Given the description of an element on the screen output the (x, y) to click on. 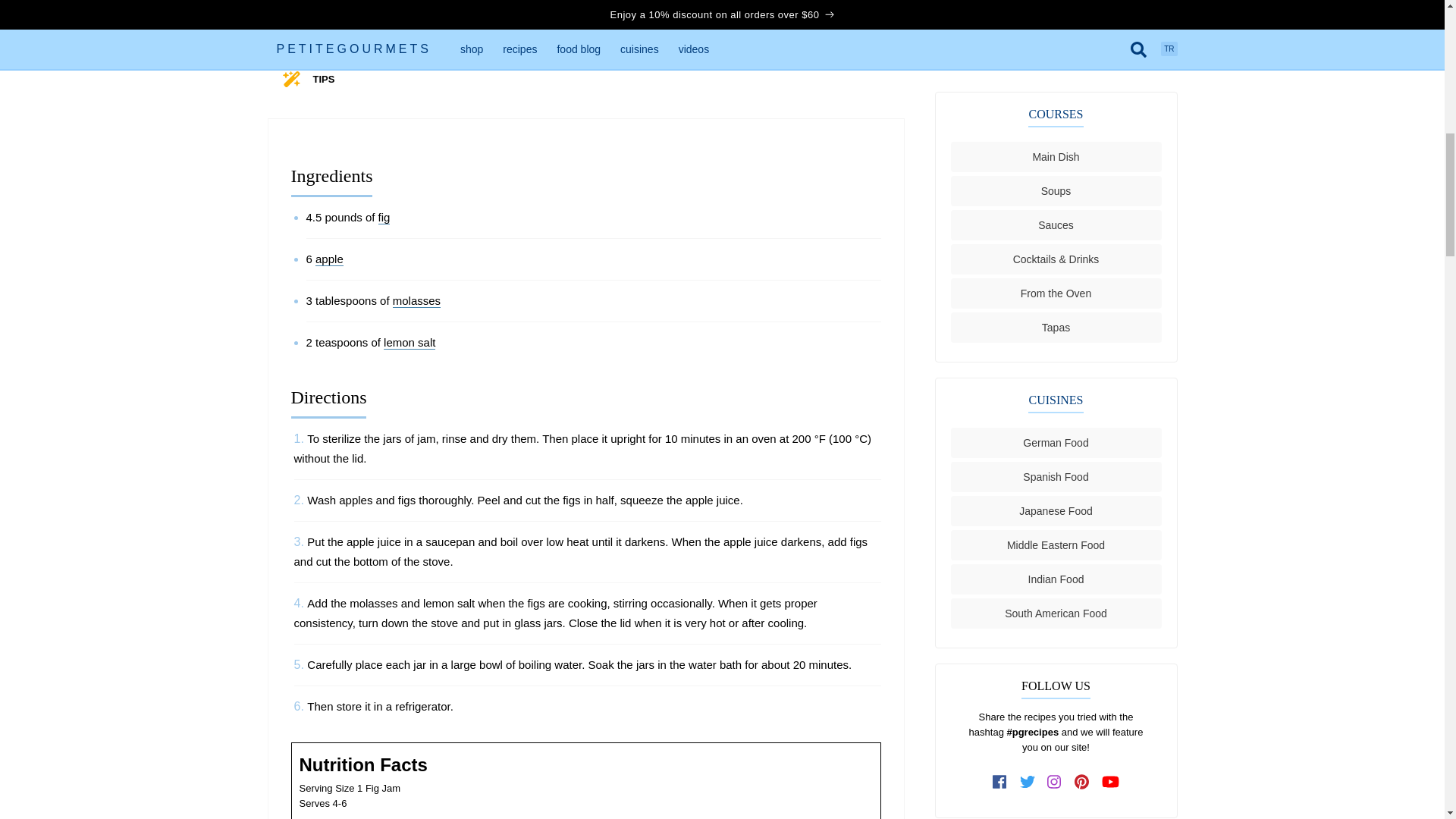
TIPS (323, 79)
apple (329, 259)
molasses (417, 300)
INGREDIENTS (346, 34)
EQUIPMENTS (753, 34)
NUTRITION (619, 34)
fig (384, 217)
DIRECTIONS (486, 34)
lemon salt (409, 342)
